Given the description of an element on the screen output the (x, y) to click on. 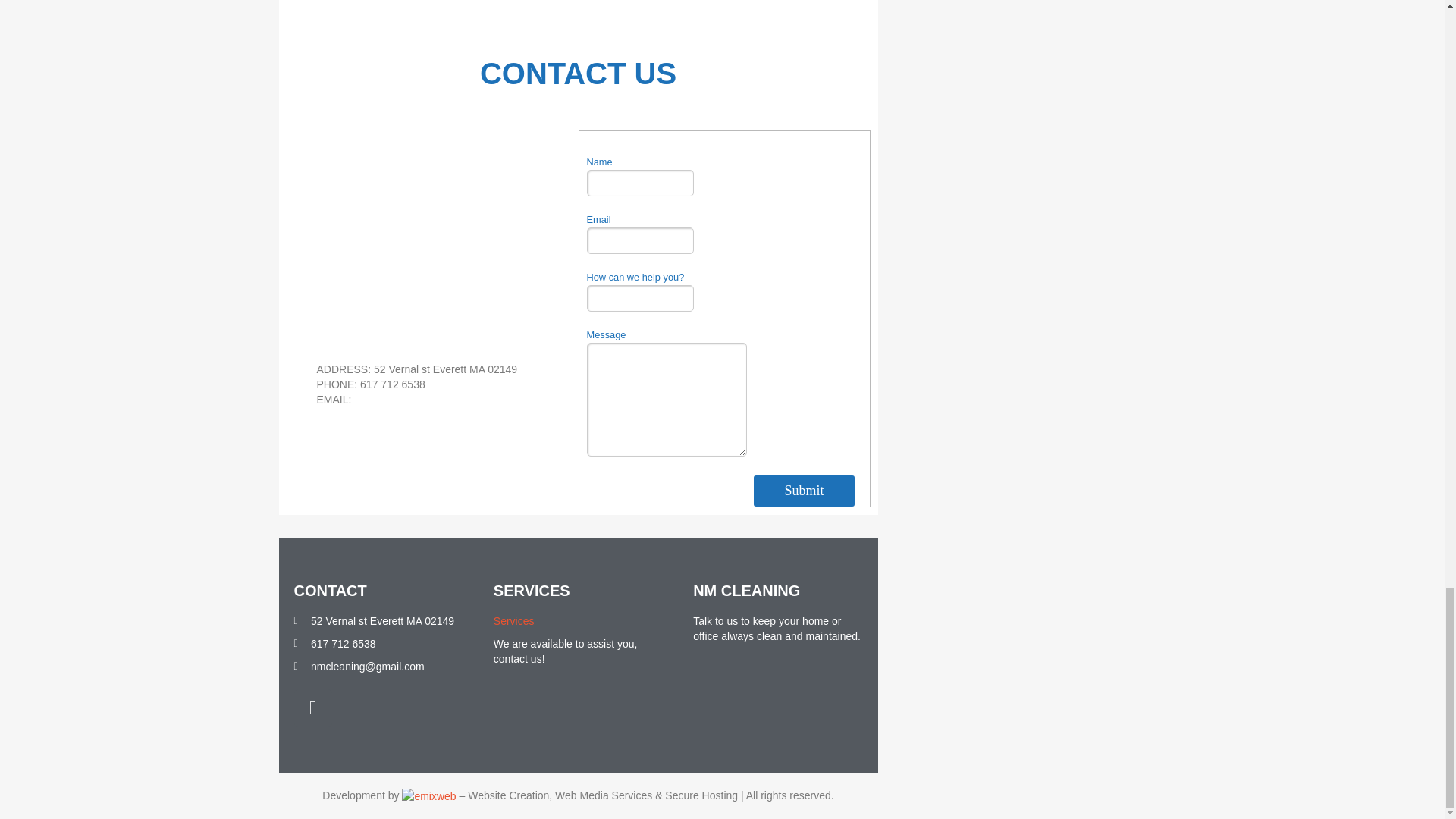
Services (513, 621)
52 Vernal st Everett MA 02149 (432, 217)
Submit (803, 490)
Submit (803, 490)
617 712 6538 (378, 643)
